Given the description of an element on the screen output the (x, y) to click on. 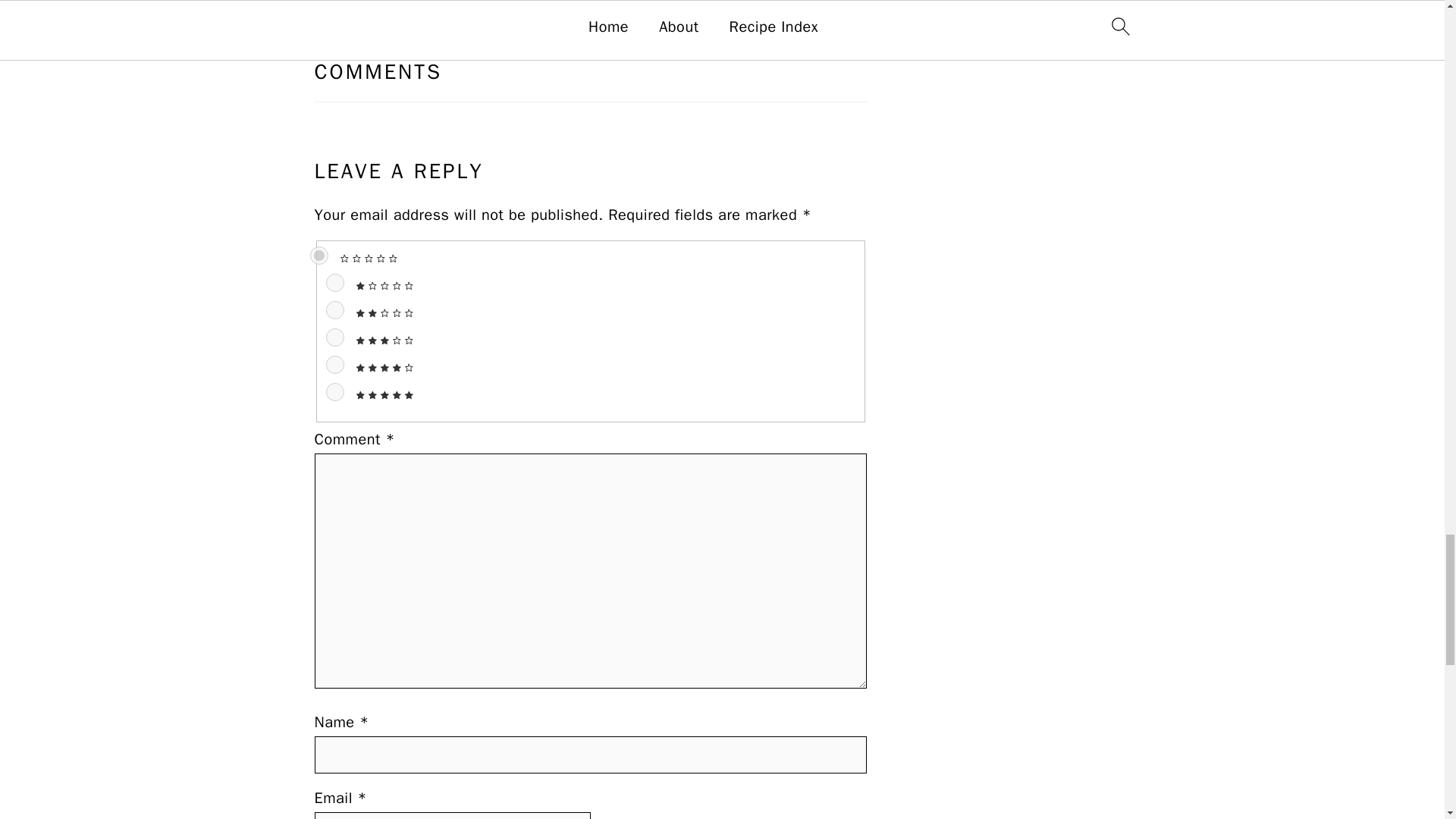
1 (334, 282)
3 (334, 337)
4 (334, 364)
2 (334, 310)
0 (319, 255)
5 (334, 392)
